Given the description of an element on the screen output the (x, y) to click on. 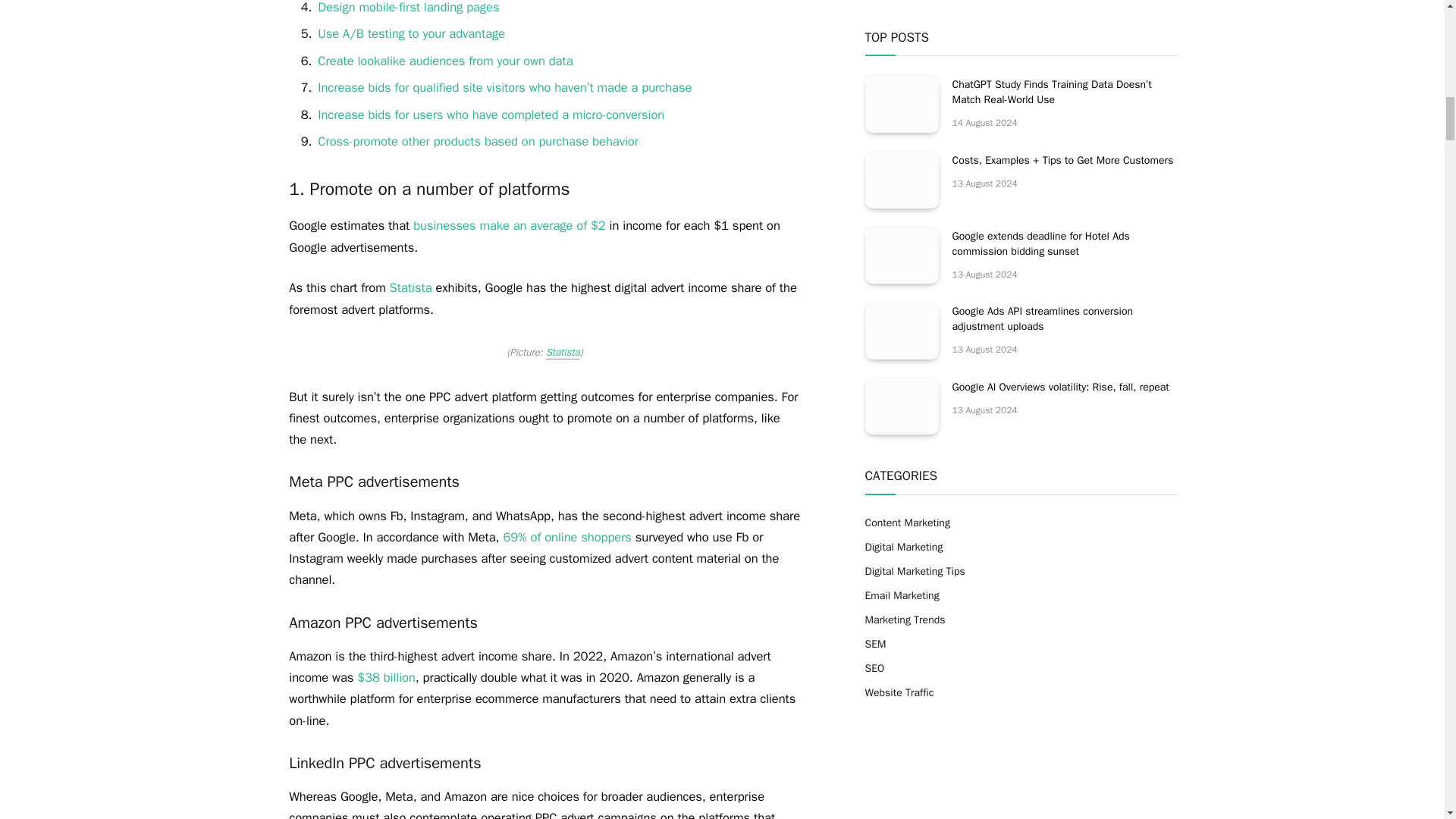
Create lookalike audiences from your own data (444, 60)
Design mobile-first landing pages (408, 7)
Cross-promote other products based on purchase behavior (478, 141)
